Given the description of an element on the screen output the (x, y) to click on. 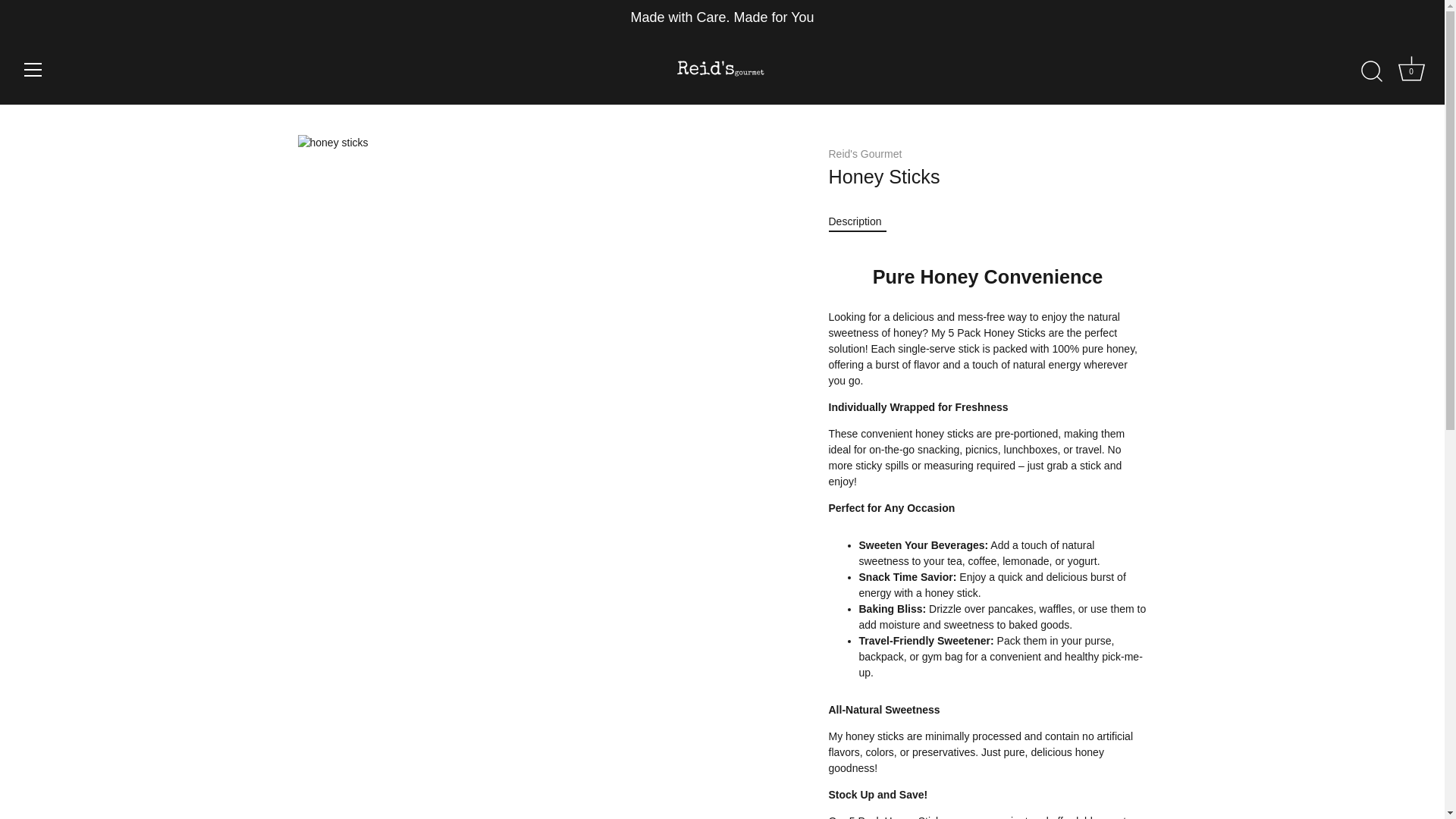
Cart (1411, 68)
Reid's Gourmet (864, 153)
Description (1411, 71)
